Given the description of an element on the screen output the (x, y) to click on. 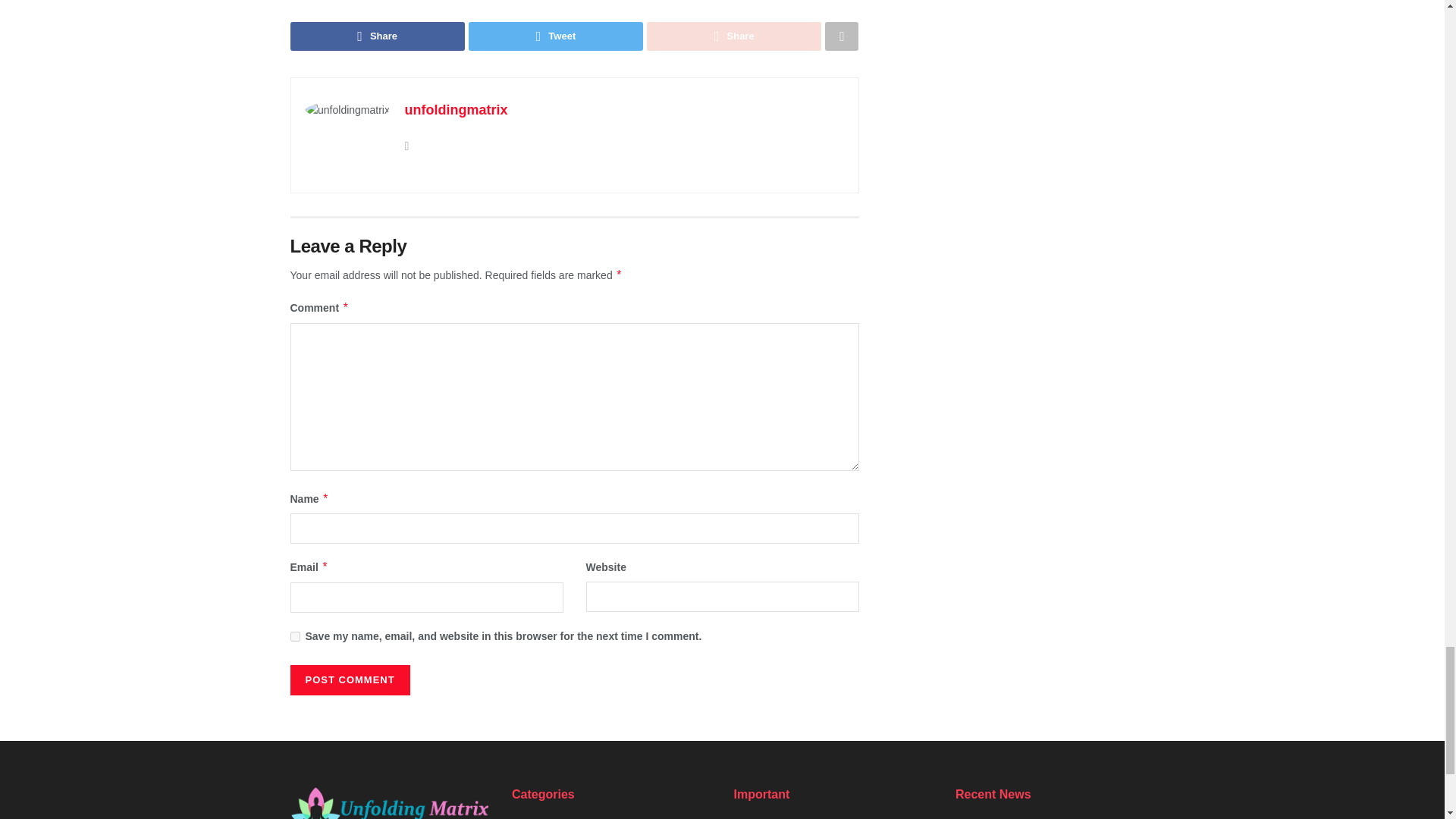
Post Comment (349, 680)
yes (294, 636)
